Given the description of an element on the screen output the (x, y) to click on. 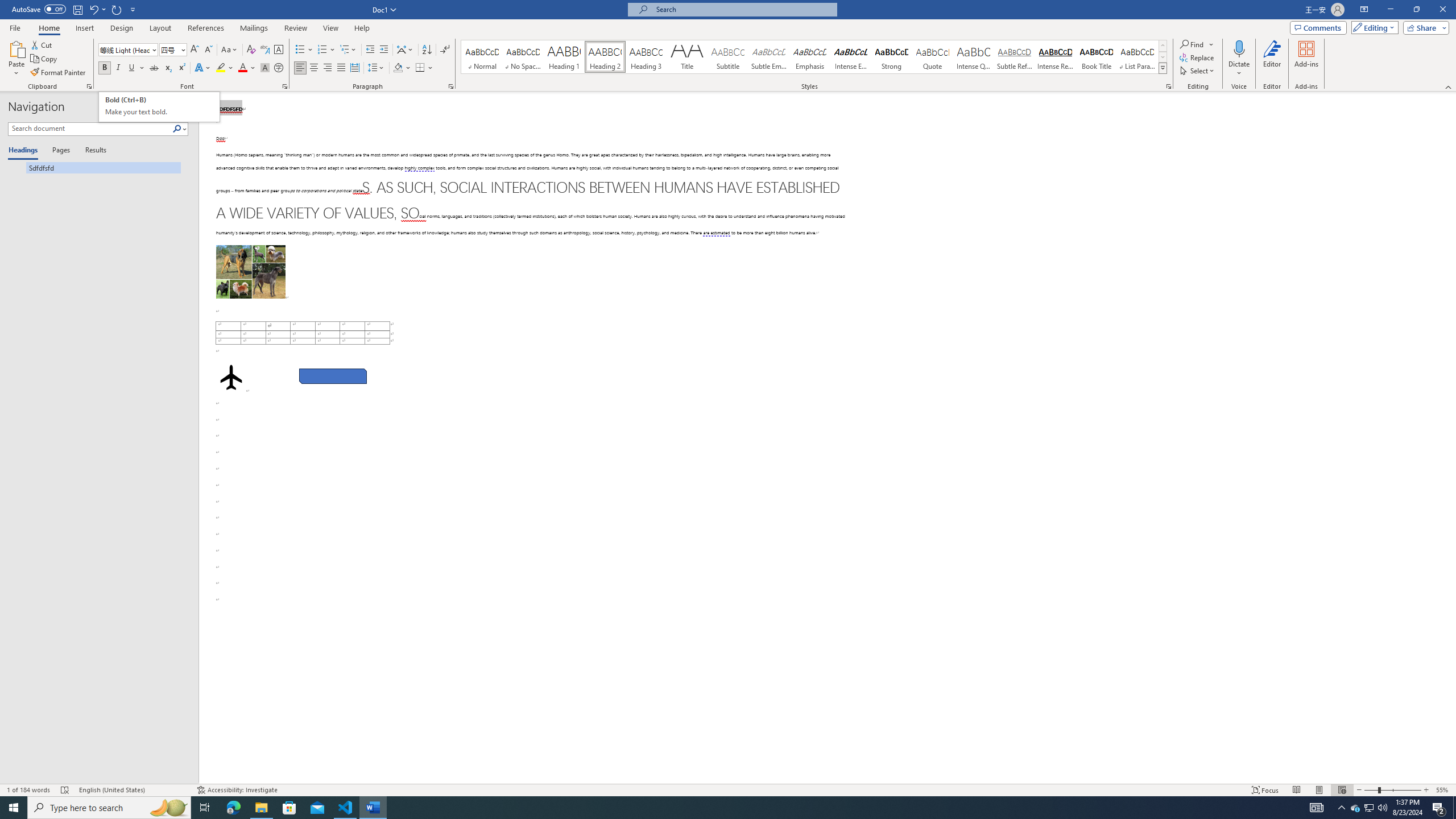
Find (1192, 44)
Clear Formatting (250, 49)
Cut (42, 44)
Results (91, 150)
Title (686, 56)
Morphological variation in six dogs (250, 271)
Microsoft search (742, 9)
Share (1423, 27)
Decrease Indent (370, 49)
Comments (1318, 27)
Quick Access Toolbar (74, 9)
Undo Bold (96, 9)
AutoSave (38, 9)
